Given the description of an element on the screen output the (x, y) to click on. 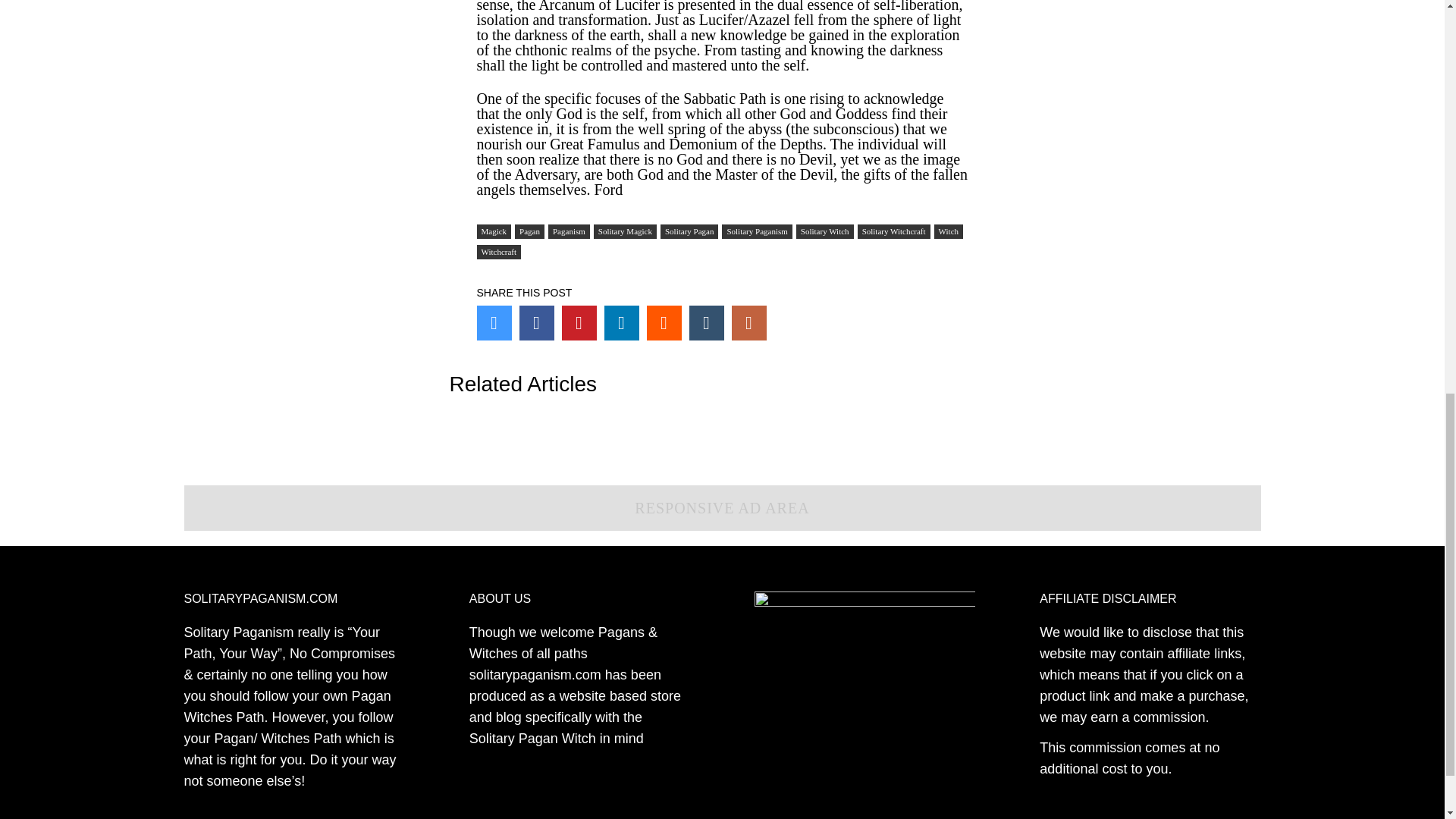
LinkedIn (621, 322)
Twitter (493, 322)
Tumblr (705, 322)
Email (747, 322)
Reddit (663, 322)
Pinterest (577, 322)
Facebook (535, 322)
